Given the description of an element on the screen output the (x, y) to click on. 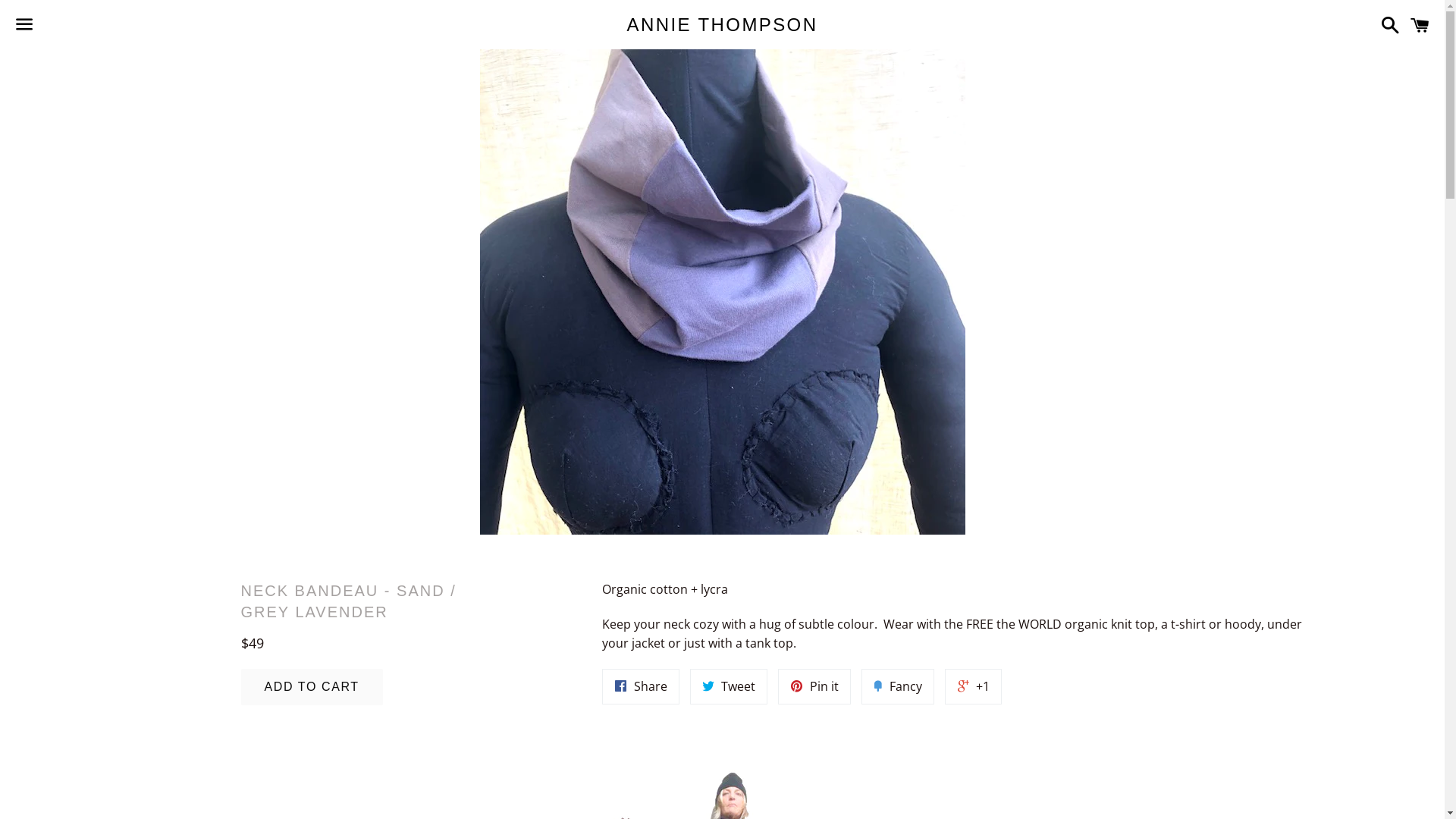
Tweet Element type: text (728, 686)
Menu Element type: text (24, 24)
Fancy Element type: text (897, 686)
ADD TO CART Element type: text (311, 686)
Search Element type: text (1386, 24)
+1 Element type: text (972, 686)
ANNIE THOMPSON Element type: text (721, 24)
Cart Element type: text (1419, 24)
Share Element type: text (640, 686)
Pin it Element type: text (814, 686)
